Given the description of an element on the screen output the (x, y) to click on. 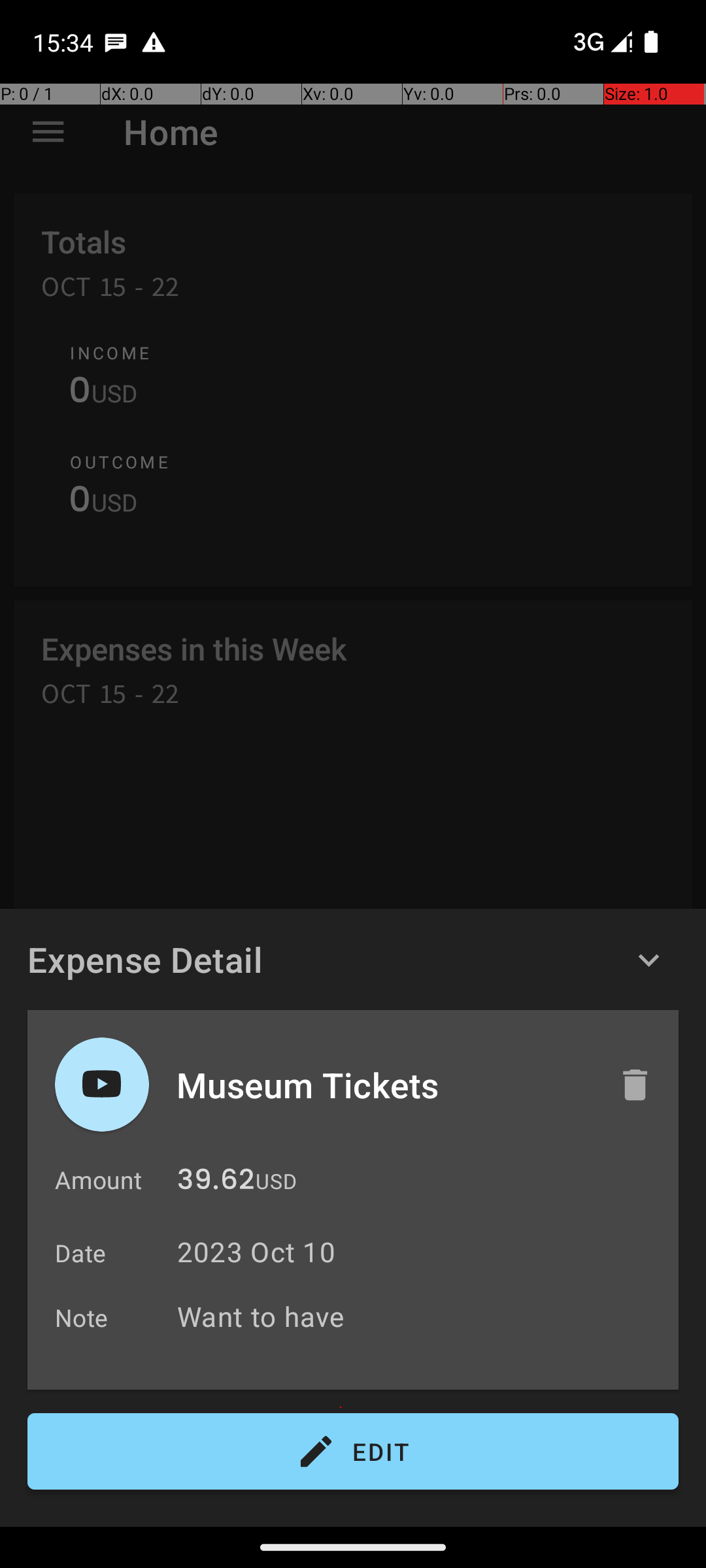
Museum Tickets Element type: android.widget.TextView (383, 1084)
39.62 Element type: android.widget.TextView (215, 1182)
2023 Oct 10 Element type: android.widget.TextView (256, 1251)
Want to have Element type: android.widget.TextView (420, 1315)
